Given the description of an element on the screen output the (x, y) to click on. 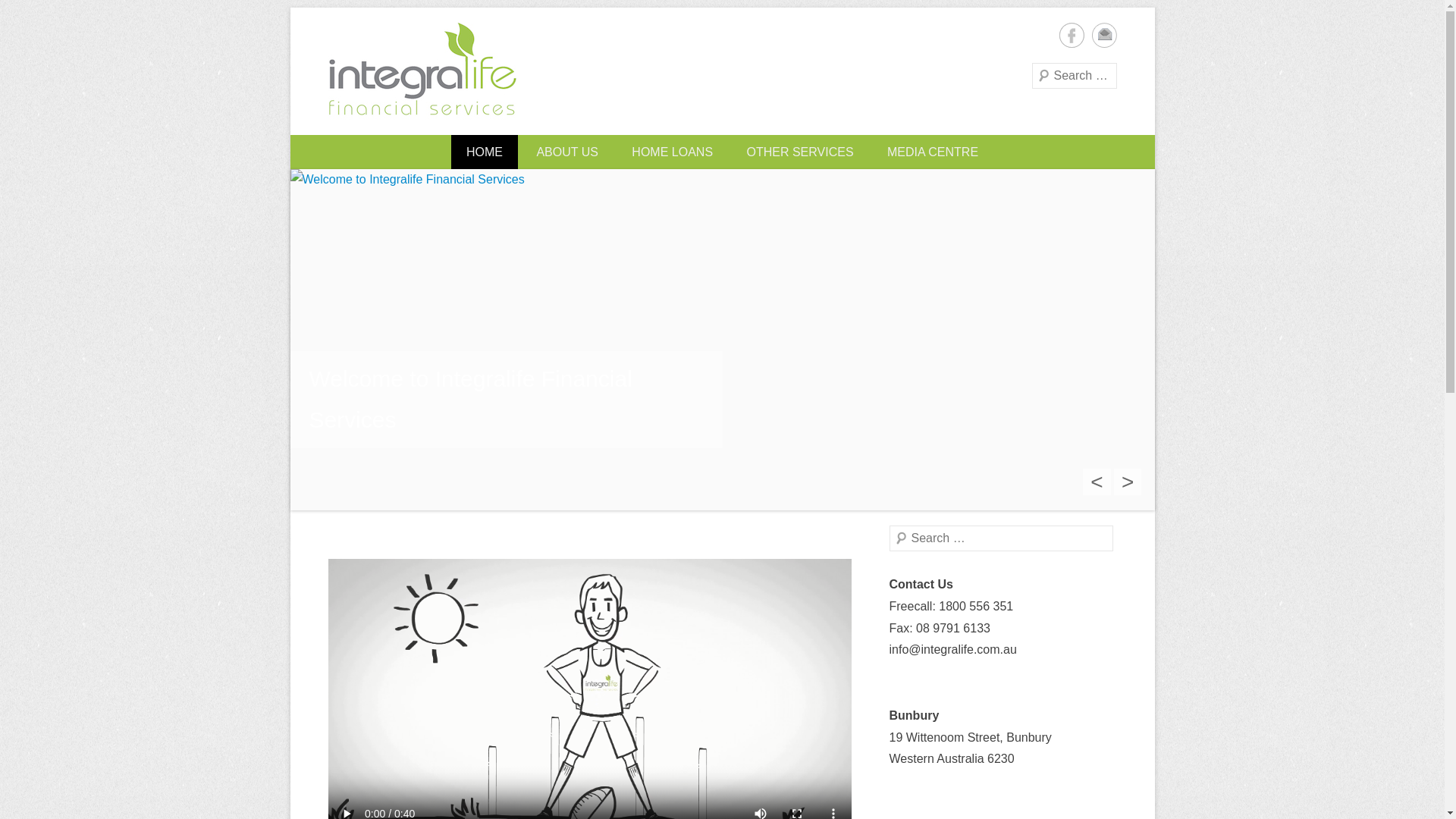
Integralife Financial Services Pty Ltd Element type: hover (422, 70)
Permalink to Welcome to Integralife Financial Services Element type: hover (721, 339)
Facebook Element type: text (1070, 34)
ABOUT US Element type: text (566, 151)
Welcome to Integralife Financial Services Element type: text (505, 398)
MEDIA CENTRE Element type: text (932, 151)
Integralife Financial Services Pty Ltd Element type: text (658, 146)
Skip to content Element type: text (329, 144)
> Element type: text (1127, 481)
HOME Element type: text (484, 151)
HOME LOANS Element type: text (672, 151)
OTHER SERVICES Element type: text (799, 151)
Search Element type: text (32, 15)
Email Element type: text (1104, 34)
< Element type: text (1096, 481)
